Given the description of an element on the screen output the (x, y) to click on. 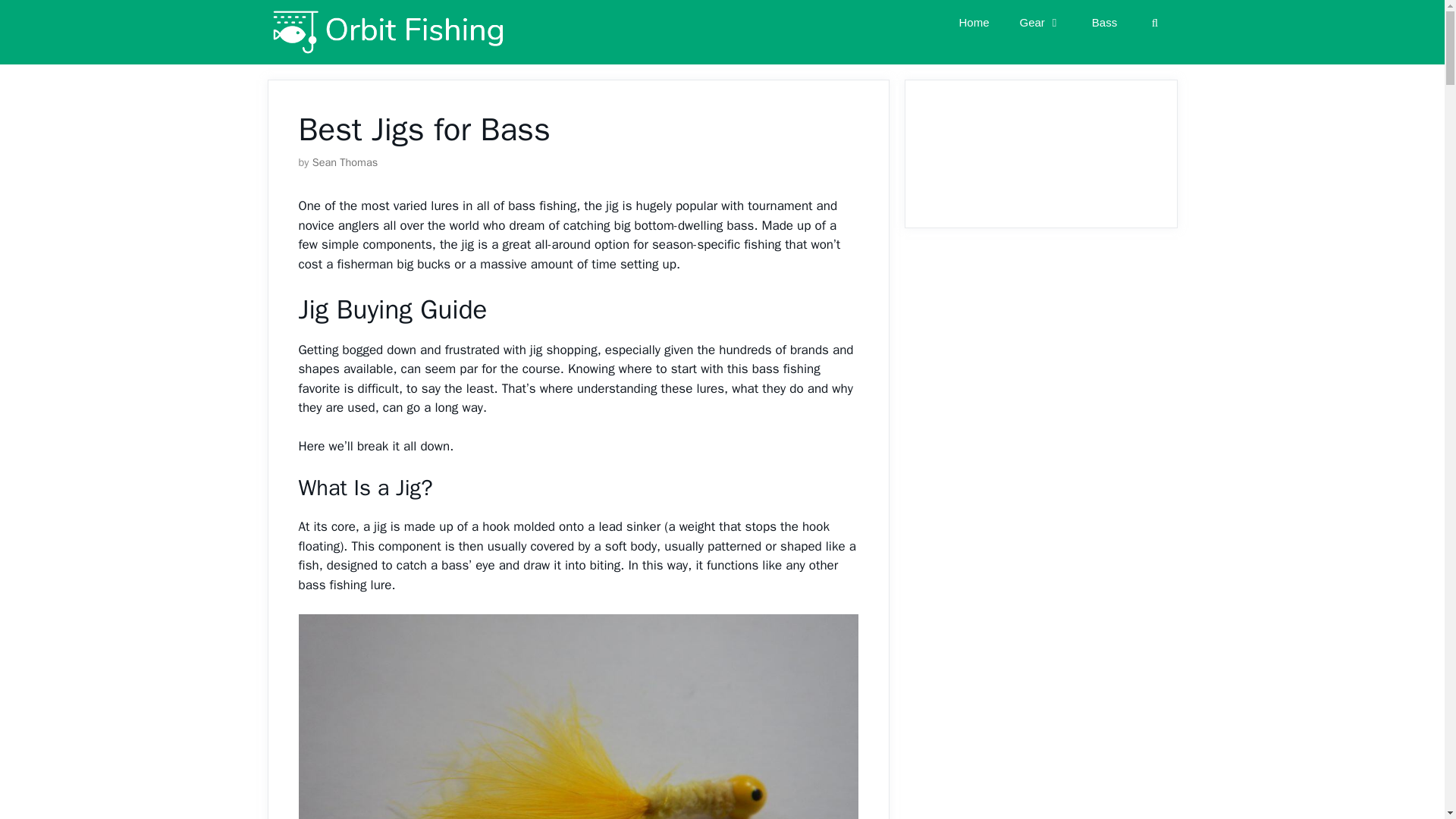
Bass (1104, 22)
Gear (1039, 22)
Sean Thomas (345, 161)
View all posts by Sean Thomas (345, 161)
Orbit Fishing (390, 32)
Home (973, 22)
